Given the description of an element on the screen output the (x, y) to click on. 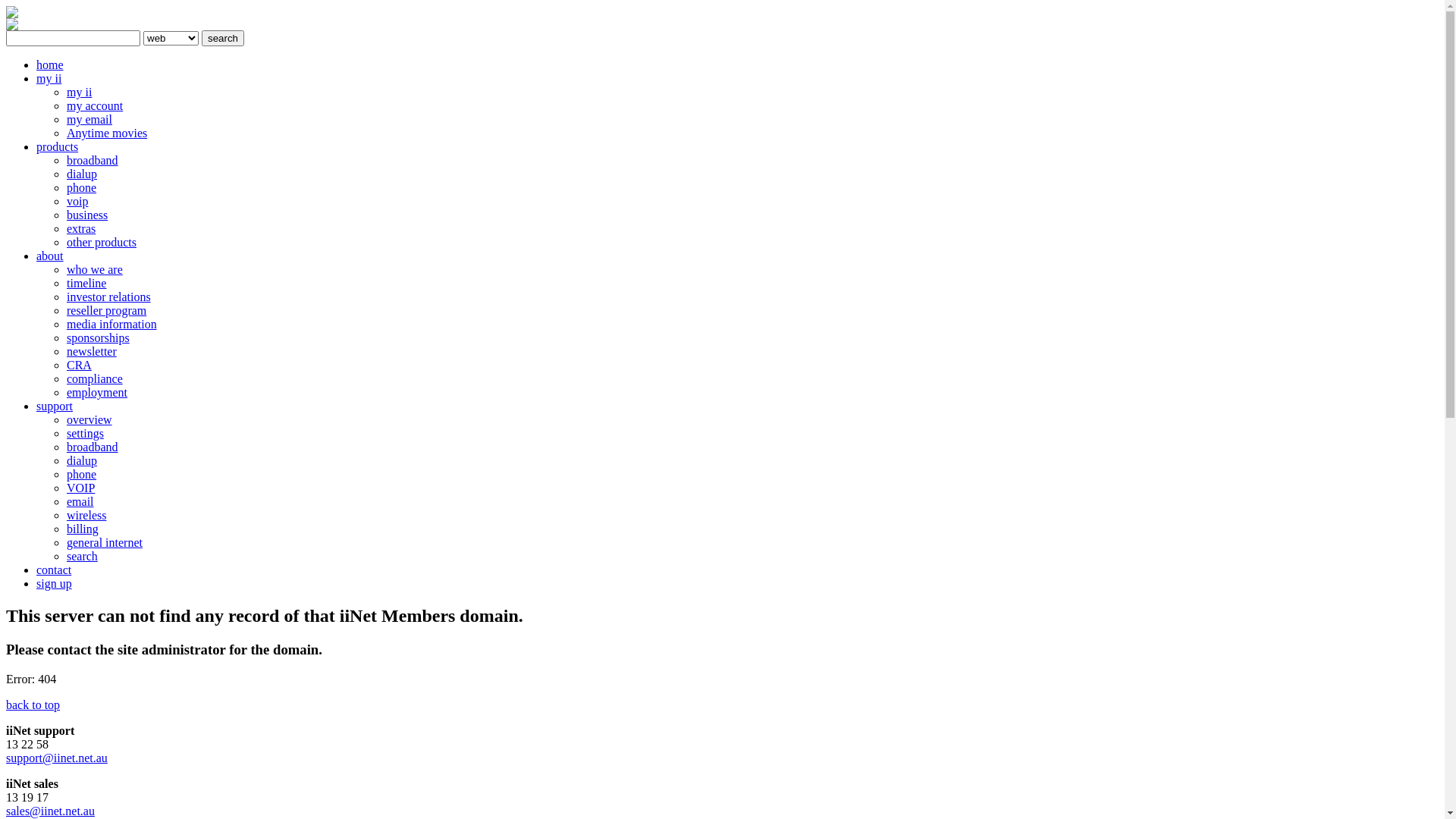
phone Element type: text (81, 187)
dialup Element type: text (81, 173)
search Element type: text (81, 555)
home Element type: text (49, 64)
sign up Element type: text (54, 583)
products Element type: text (57, 146)
broadband Element type: text (92, 446)
timeline Element type: text (86, 282)
contact Element type: text (53, 569)
employment Element type: text (96, 391)
media information Element type: text (111, 323)
support@iinet.net.au Element type: text (56, 757)
back to top Element type: text (32, 704)
my account Element type: text (94, 105)
wireless Element type: text (86, 514)
CRA Element type: text (78, 364)
who we are Element type: text (94, 269)
my email Element type: text (89, 118)
phone Element type: text (81, 473)
business Element type: text (86, 214)
extras Element type: text (80, 228)
search Element type: text (222, 38)
sales@iinet.net.au Element type: text (50, 810)
dialup Element type: text (81, 460)
voip Element type: text (76, 200)
support Element type: text (54, 405)
overview Element type: text (89, 419)
newsletter Element type: text (91, 351)
sponsorships Element type: text (97, 337)
reseller program Element type: text (106, 310)
broadband Element type: text (92, 159)
Anytime movies Element type: text (106, 132)
VOIP Element type: text (80, 487)
my ii Element type: text (48, 78)
other products Element type: text (101, 241)
investor relations Element type: text (108, 296)
about Element type: text (49, 255)
settings Element type: text (84, 432)
general internet Element type: text (104, 542)
my ii Element type: text (78, 91)
email Element type: text (80, 501)
compliance Element type: text (94, 378)
billing Element type: text (82, 528)
